Given the description of an element on the screen output the (x, y) to click on. 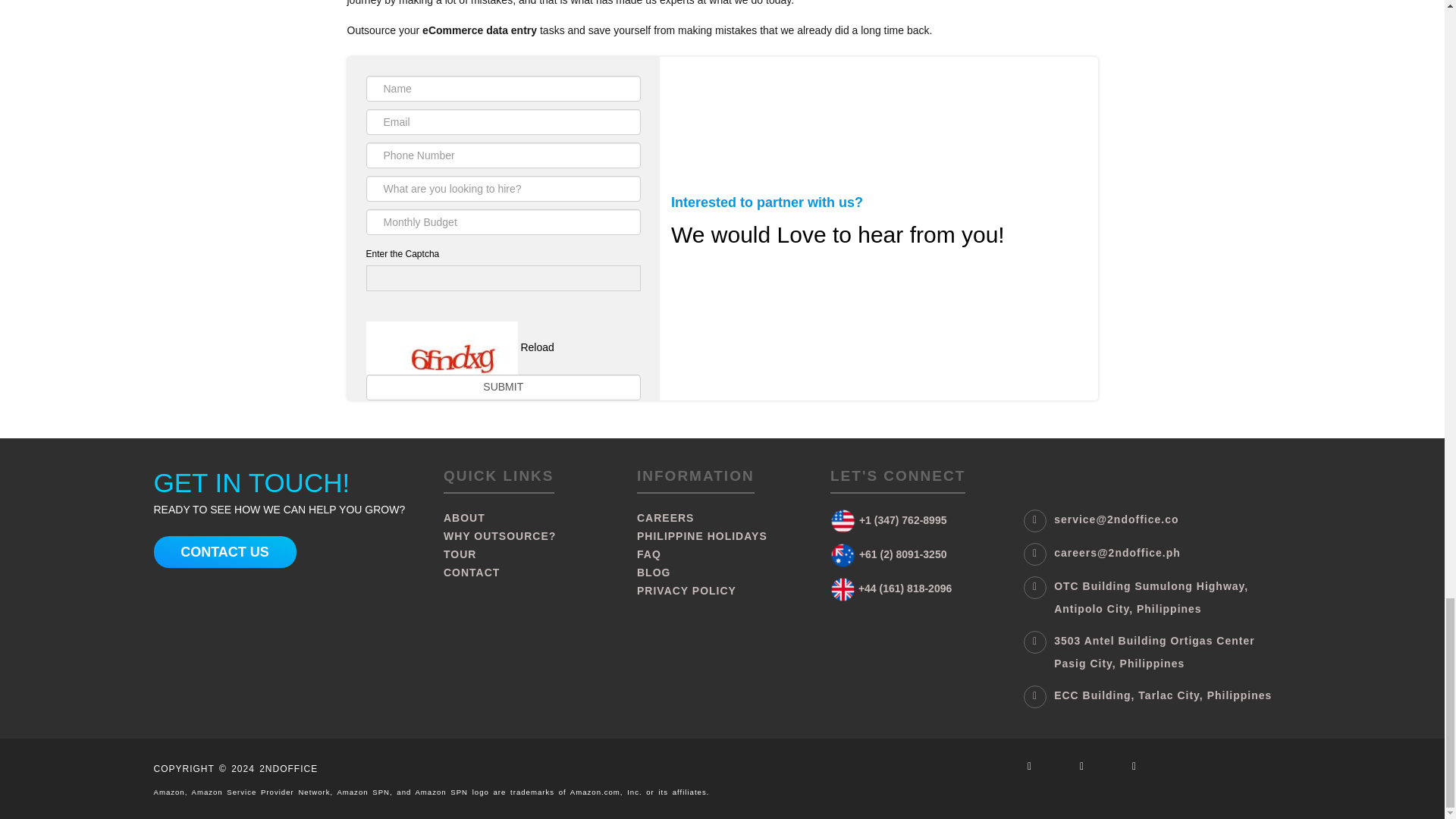
Why Outsource? (529, 536)
Tour (529, 554)
Submit (502, 387)
